Given the description of an element on the screen output the (x, y) to click on. 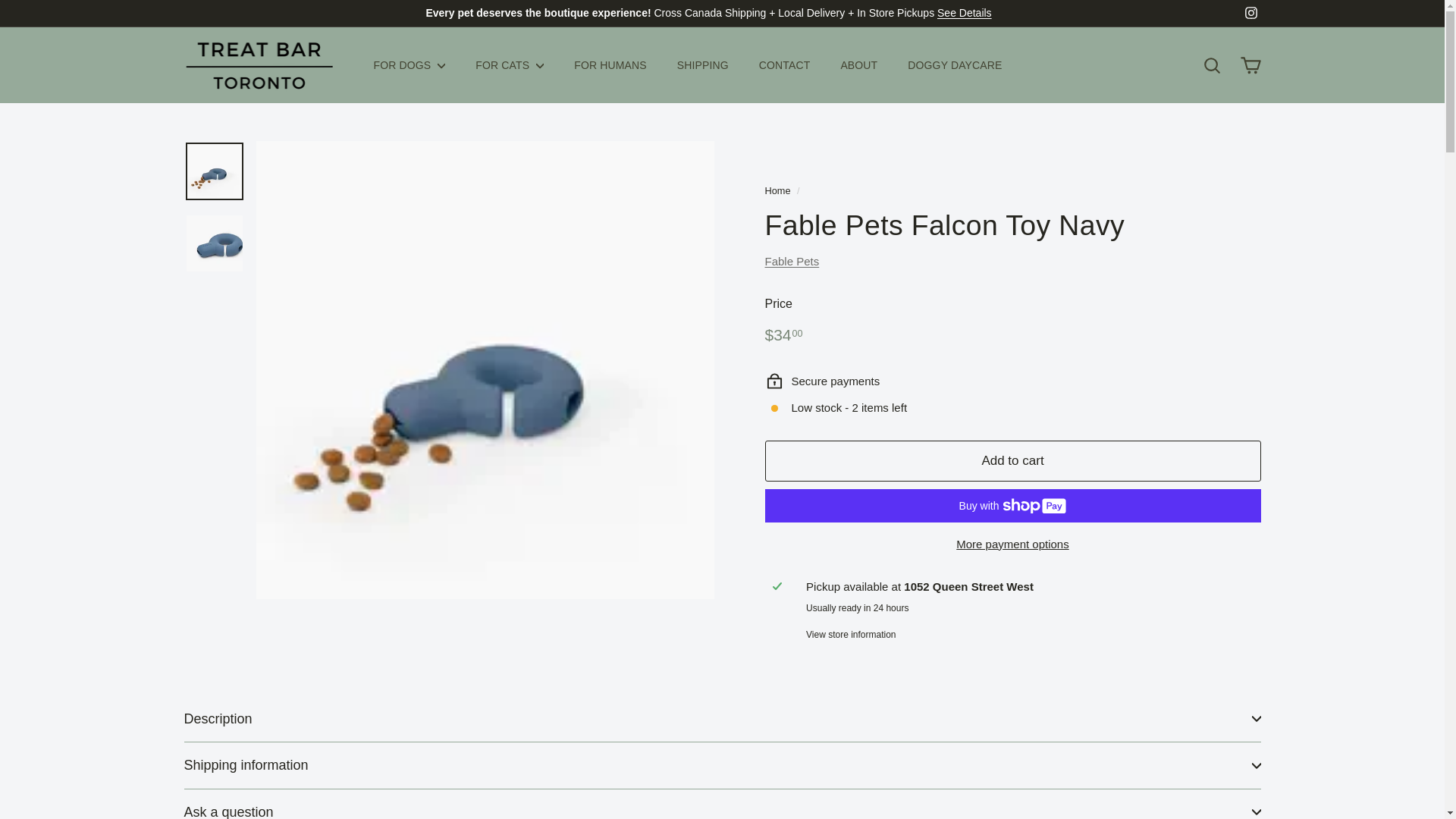
Back to the frontpage (777, 190)
DOGGY DAYCARE (954, 64)
See Details (964, 12)
ABOUT (858, 64)
Fable Pets (791, 260)
Shipping Info (964, 12)
SHIPPING (703, 64)
FOR HUMANS (610, 64)
instagram (1250, 12)
CONTACT (784, 64)
